Given the description of an element on the screen output the (x, y) to click on. 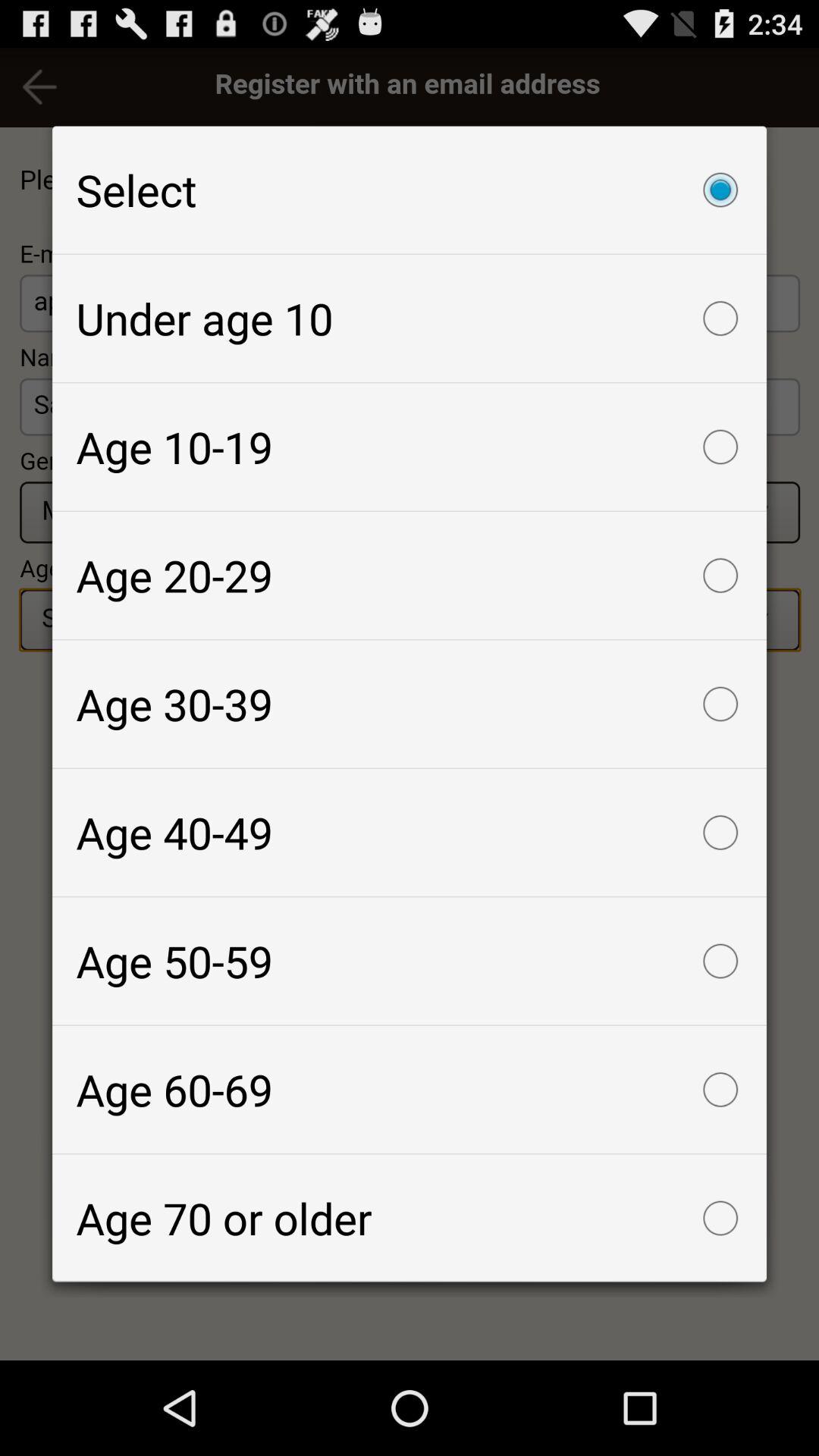
turn on the age 20-29 icon (409, 575)
